Given the description of an element on the screen output the (x, y) to click on. 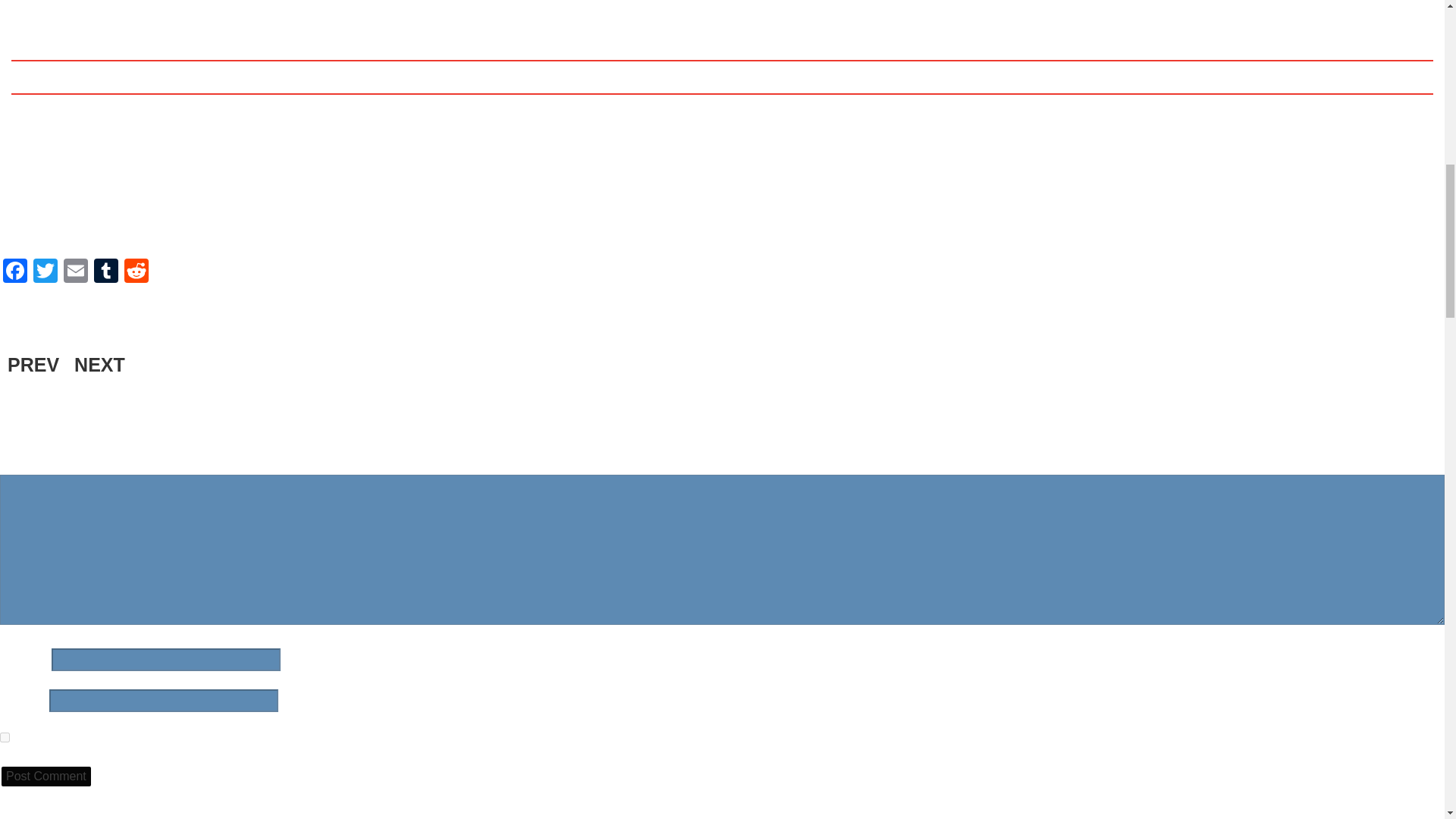
Post Comment (46, 775)
Email (75, 272)
Tumblr (105, 272)
yes (5, 737)
Twitter (45, 272)
Facebook (15, 272)
Facebook (15, 272)
Twitter (45, 272)
Reddit (135, 272)
Post Comment (46, 775)
PREV (33, 364)
Tumblr (105, 272)
Email (75, 272)
NEXT (99, 364)
Reddit (135, 272)
